Given the description of an element on the screen output the (x, y) to click on. 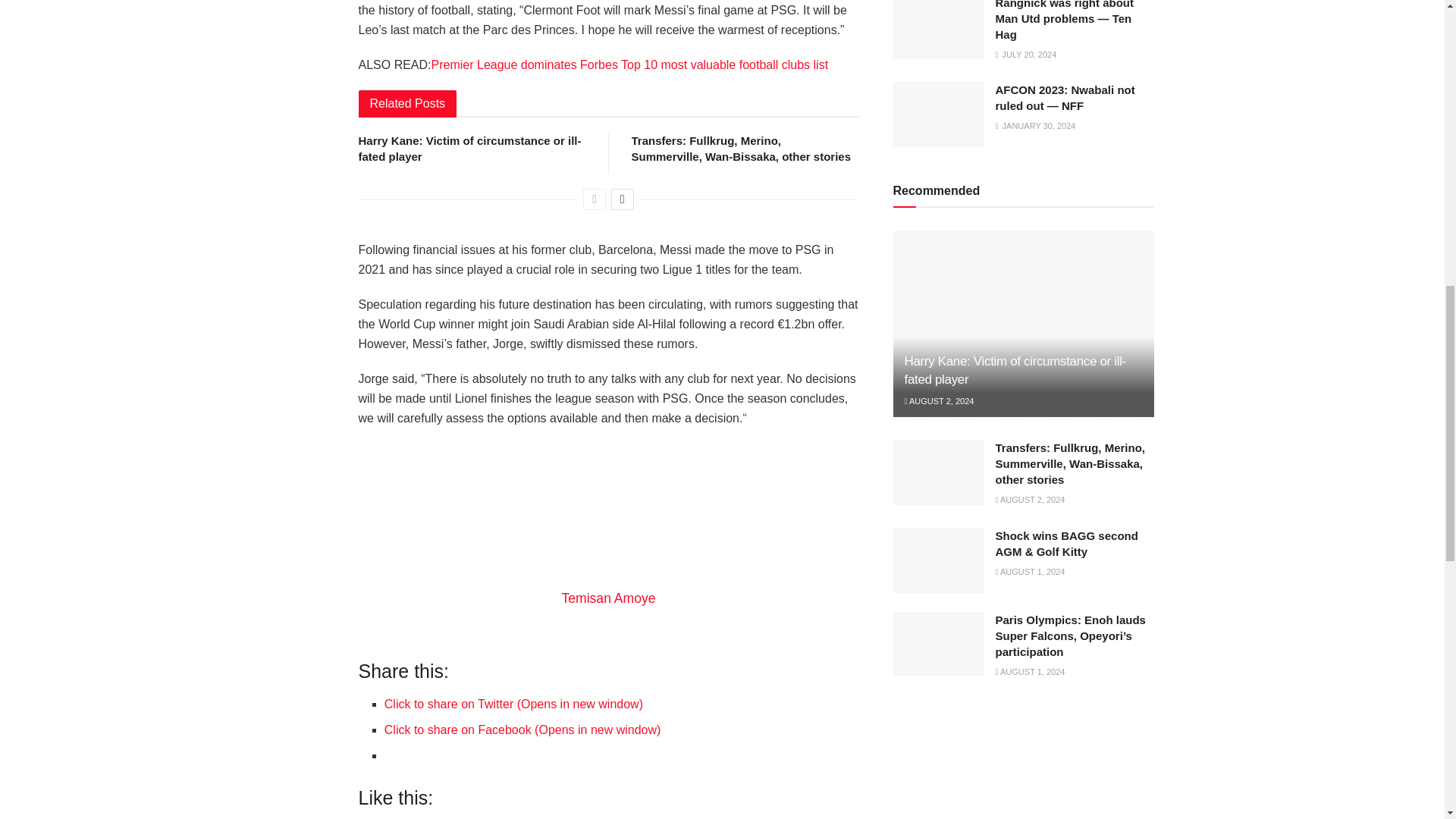
Previous (594, 199)
Click to share on Facebook (522, 729)
Click to share on Twitter (513, 703)
Next (622, 199)
